Given the description of an element on the screen output the (x, y) to click on. 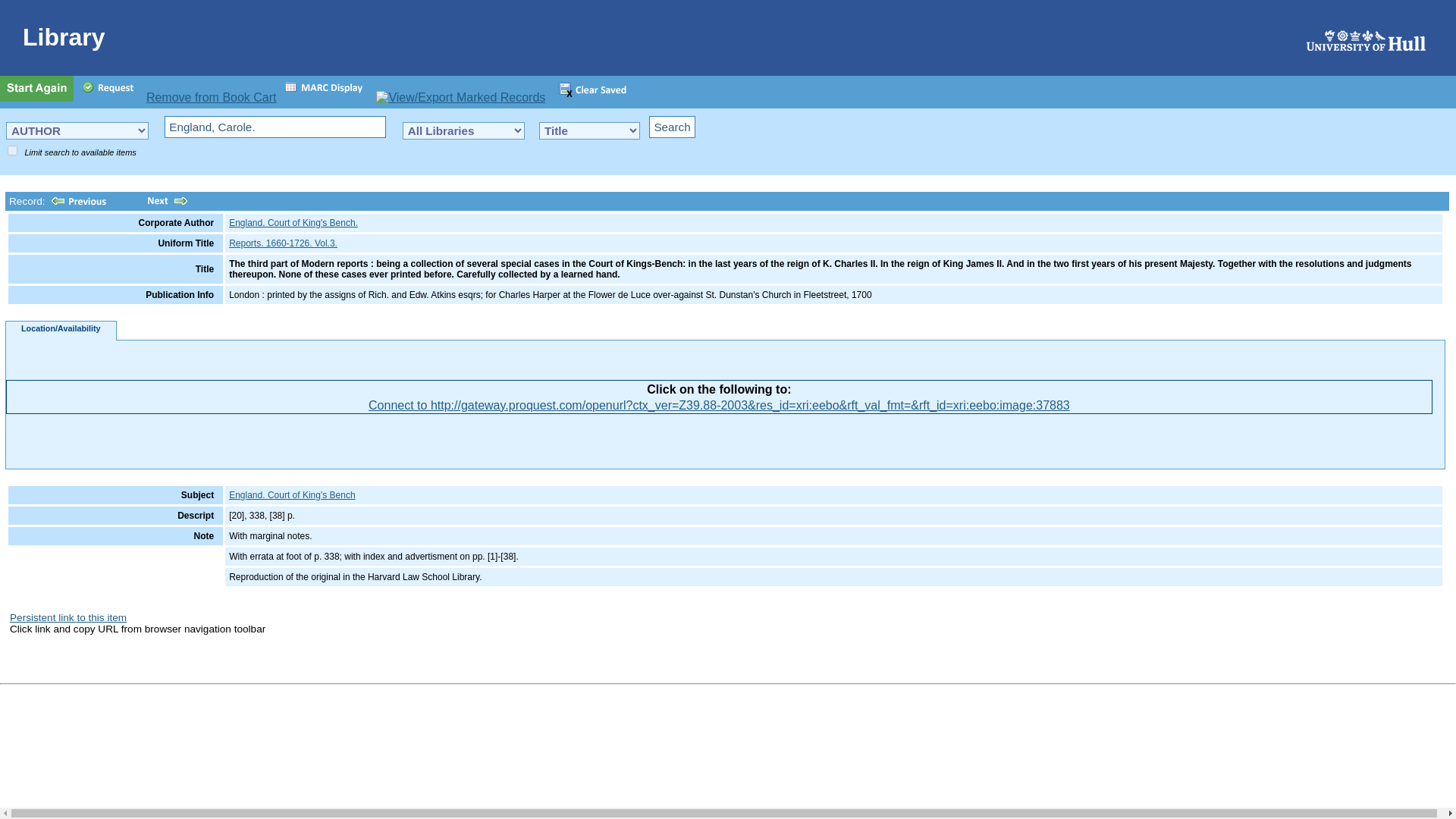
England. Court of King's Bench (291, 494)
Search (671, 127)
Persistent link to this item (68, 617)
England, Carole. (274, 127)
England. Court of King's Bench. (293, 222)
Remove from Book Cart (211, 97)
1 (12, 150)
Library (733, 37)
Reports. 1660-1726. Vol.3. (282, 243)
Search (671, 127)
